Given the description of an element on the screen output the (x, y) to click on. 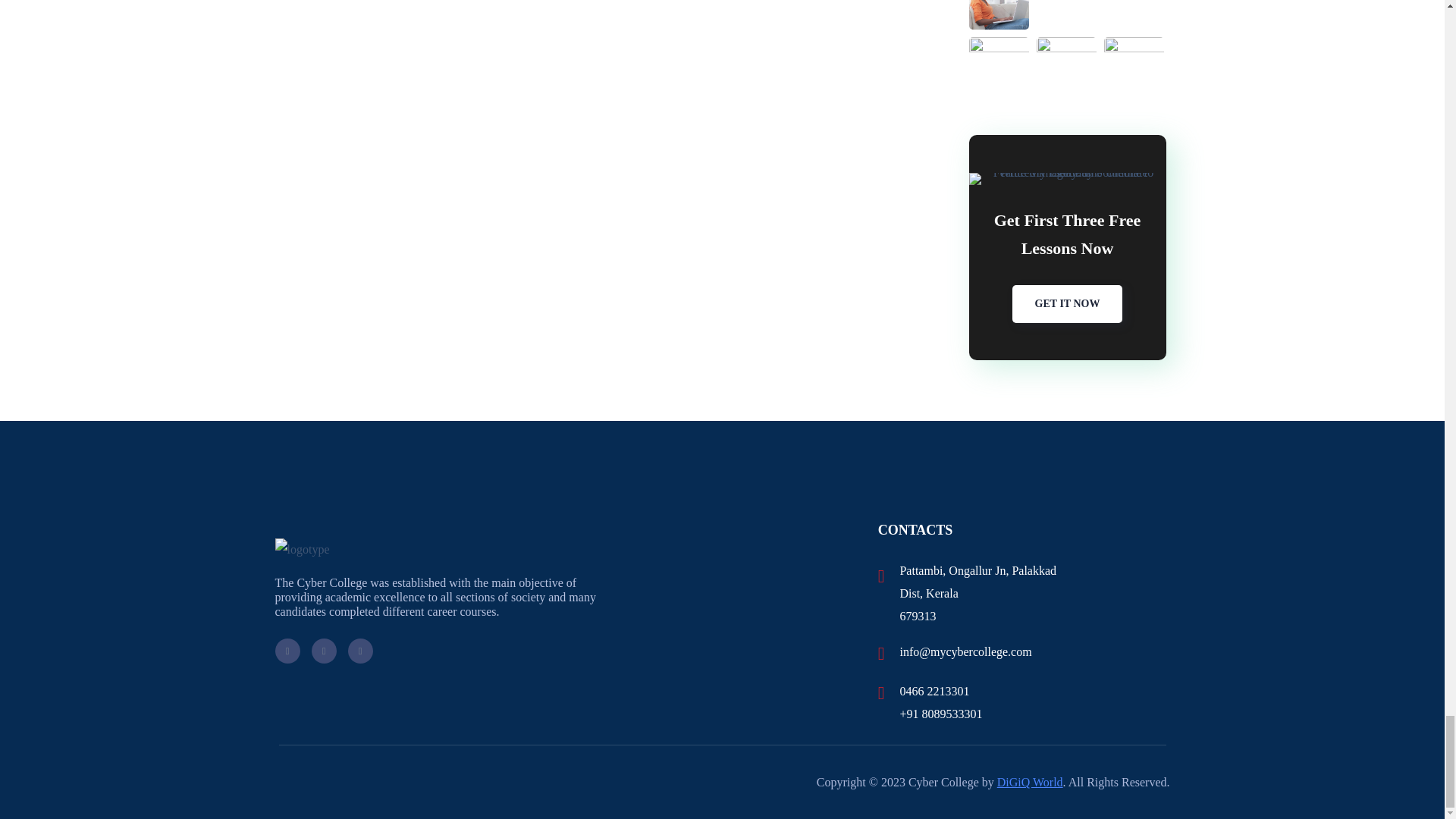
Instagram (323, 650)
Linkedin (359, 650)
Facebook (287, 650)
